Given the description of an element on the screen output the (x, y) to click on. 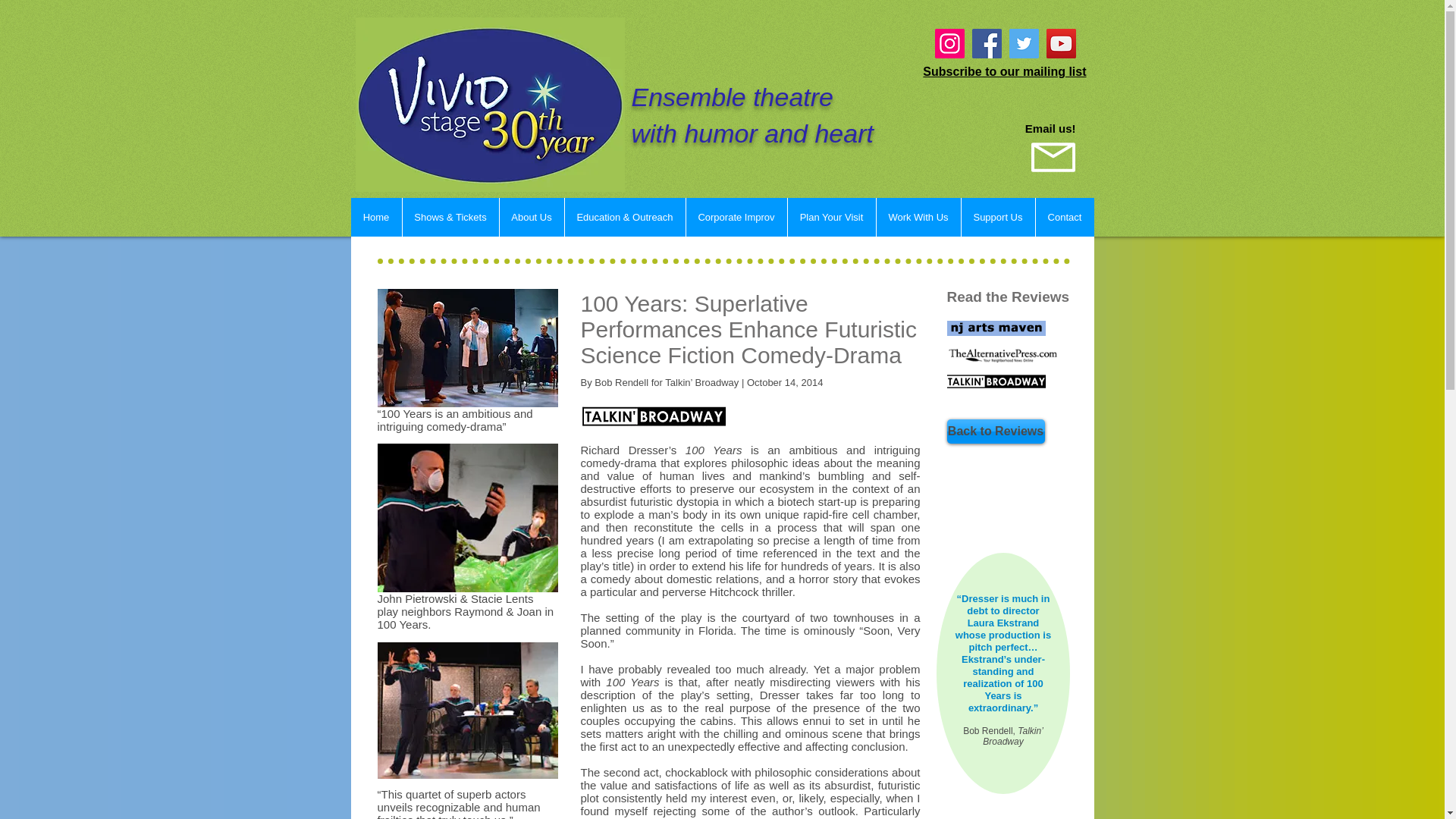
Read Review (995, 381)
Corporate Improv (736, 217)
Vivid Stage formerly known as Dreamcatcher Repertory Theatre (489, 104)
Talkin' Broadway icon (653, 415)
Home (375, 217)
Read Review (995, 328)
Read Review (1002, 355)
Subscribe to our mailing list (1004, 71)
